Given the description of an element on the screen output the (x, y) to click on. 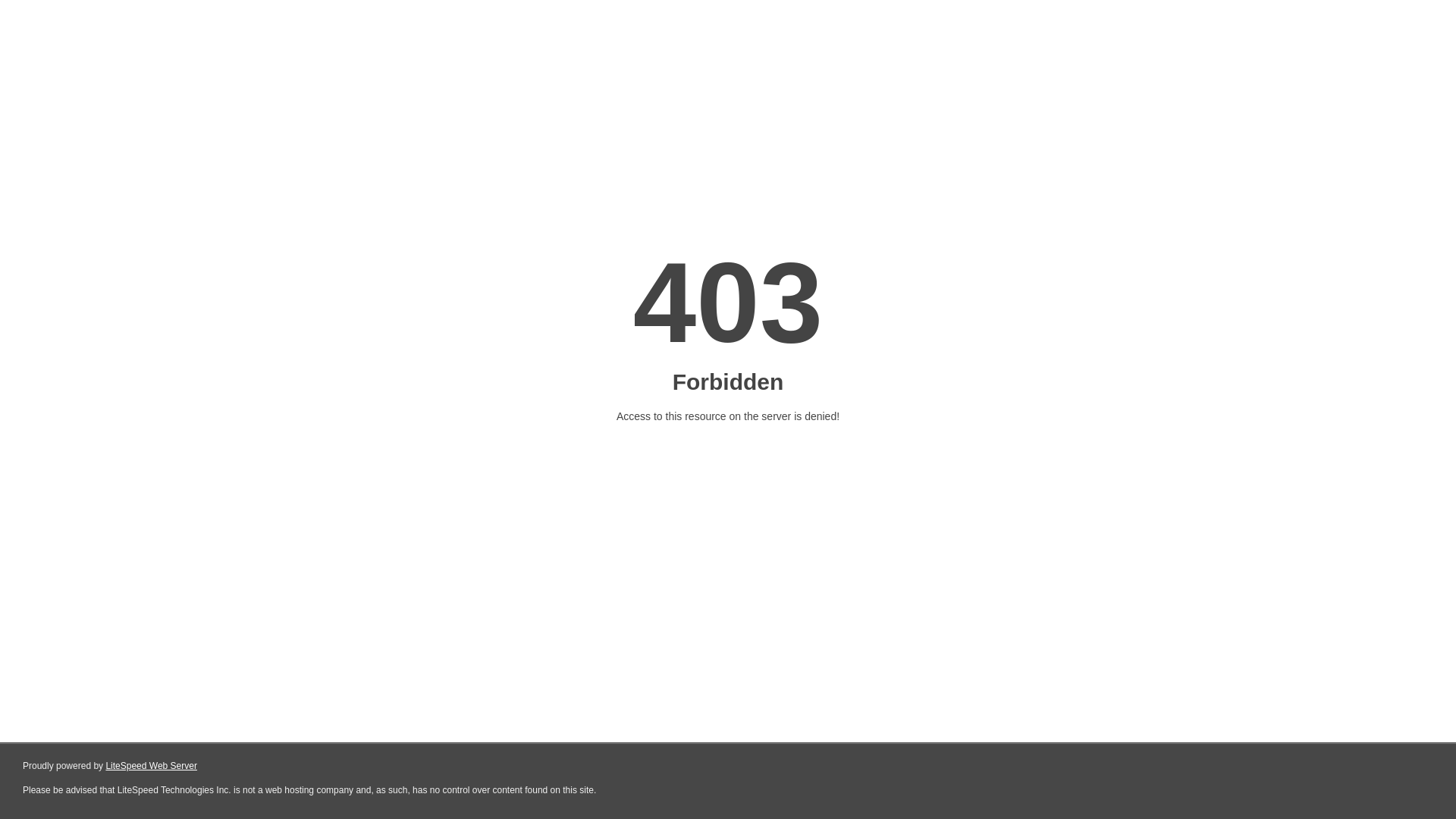
LiteSpeed Web Server Element type: text (151, 765)
